Given the description of an element on the screen output the (x, y) to click on. 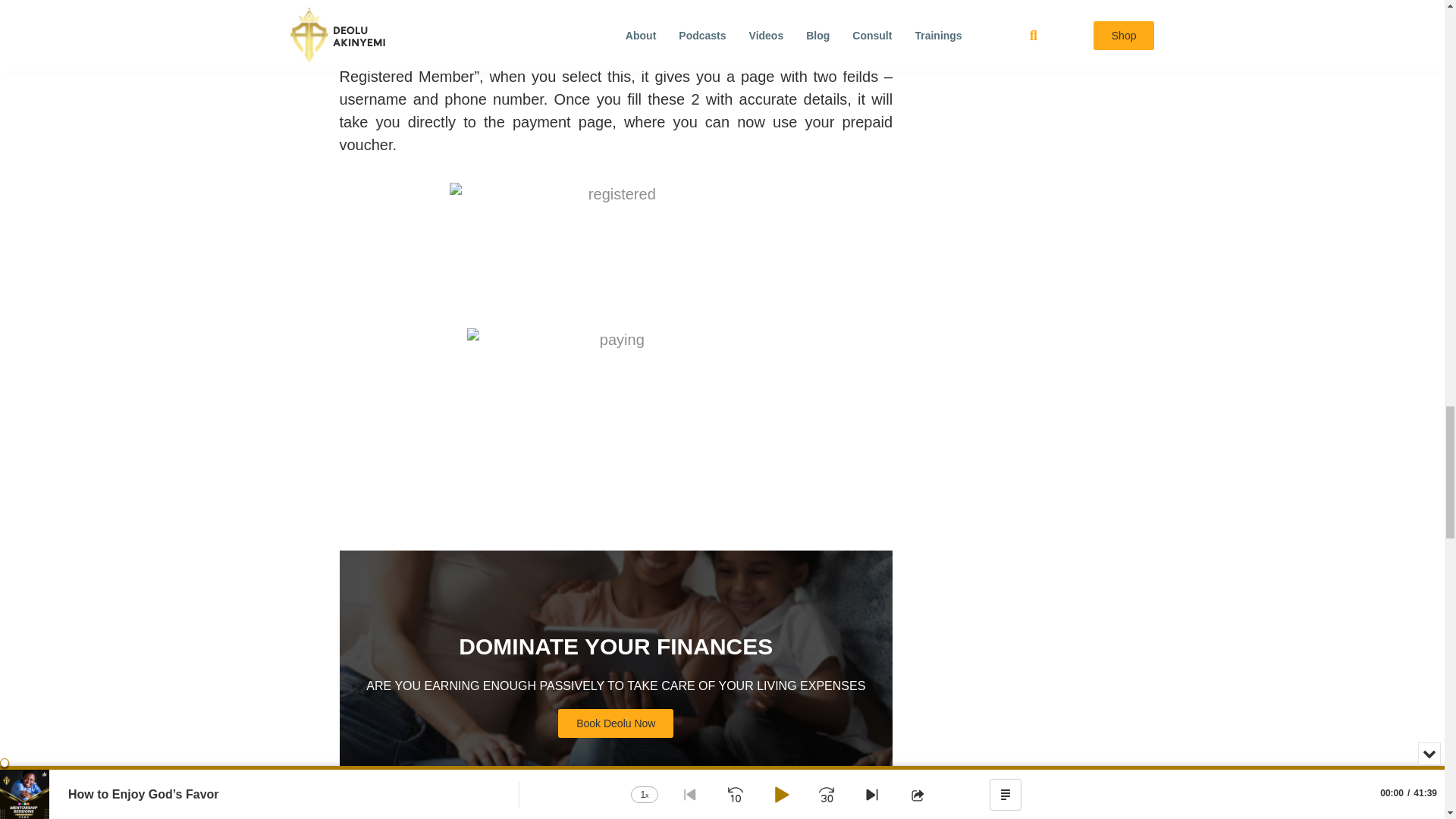
paying (615, 418)
Book Deolu Now (614, 723)
registered (615, 255)
